Given the description of an element on the screen output the (x, y) to click on. 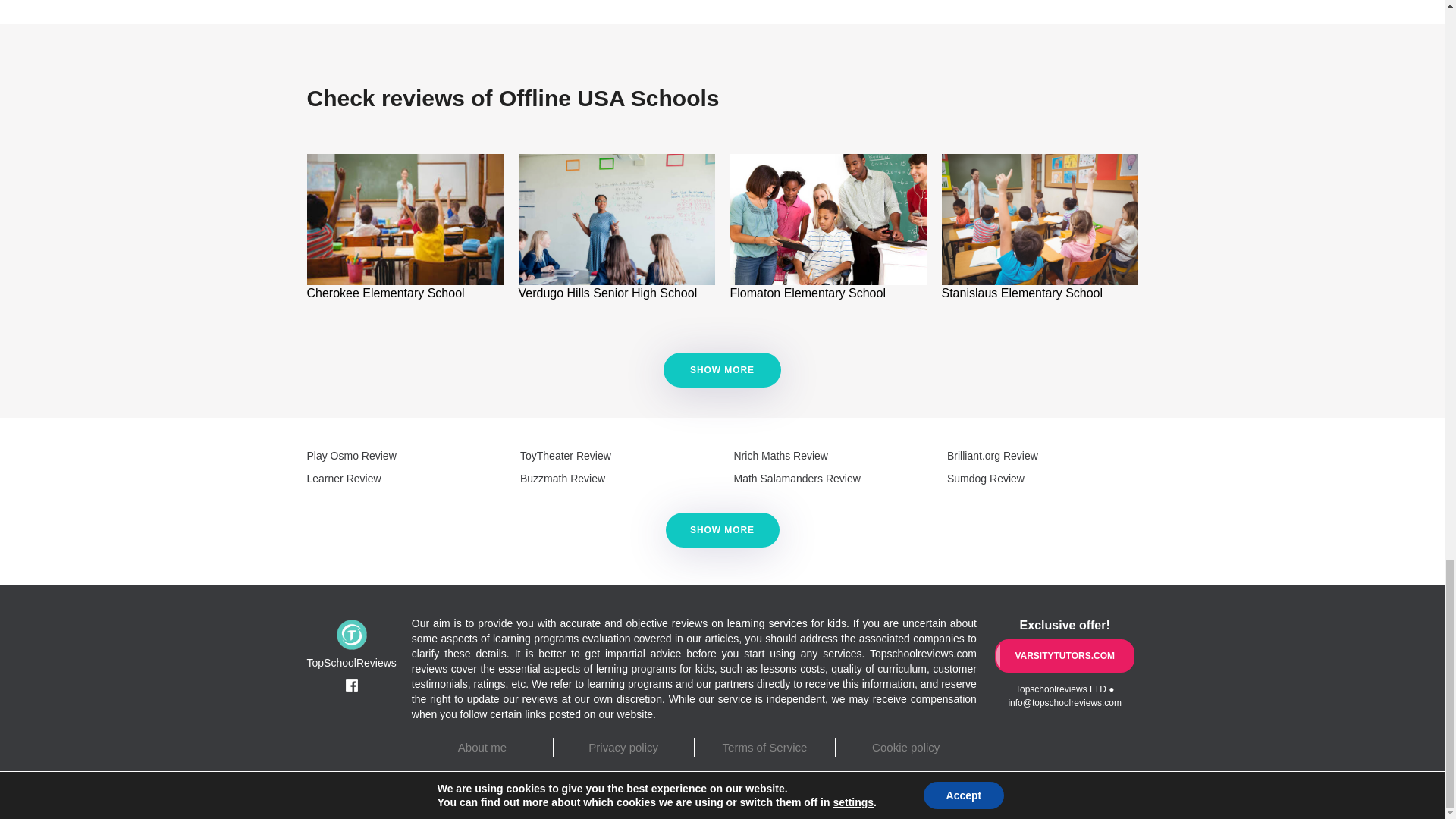
SHOW MORE (721, 369)
SHOW MORE (721, 369)
Learner Review (342, 478)
Play Osmo Review (350, 455)
